Given the description of an element on the screen output the (x, y) to click on. 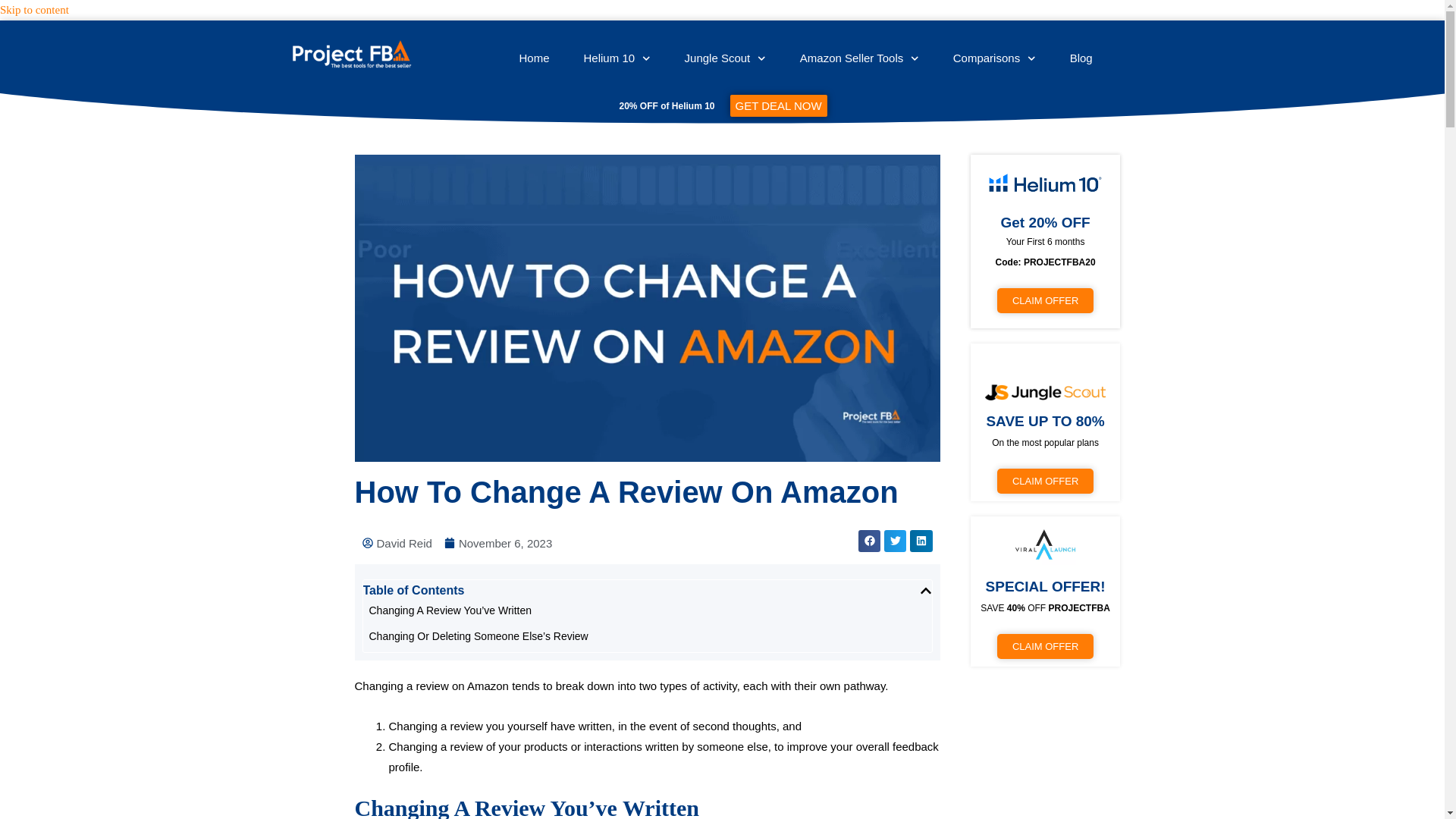
Helium 10 (617, 58)
Jungle Scout (724, 58)
Home (534, 58)
Amazon Seller Tools (859, 58)
